Given the description of an element on the screen output the (x, y) to click on. 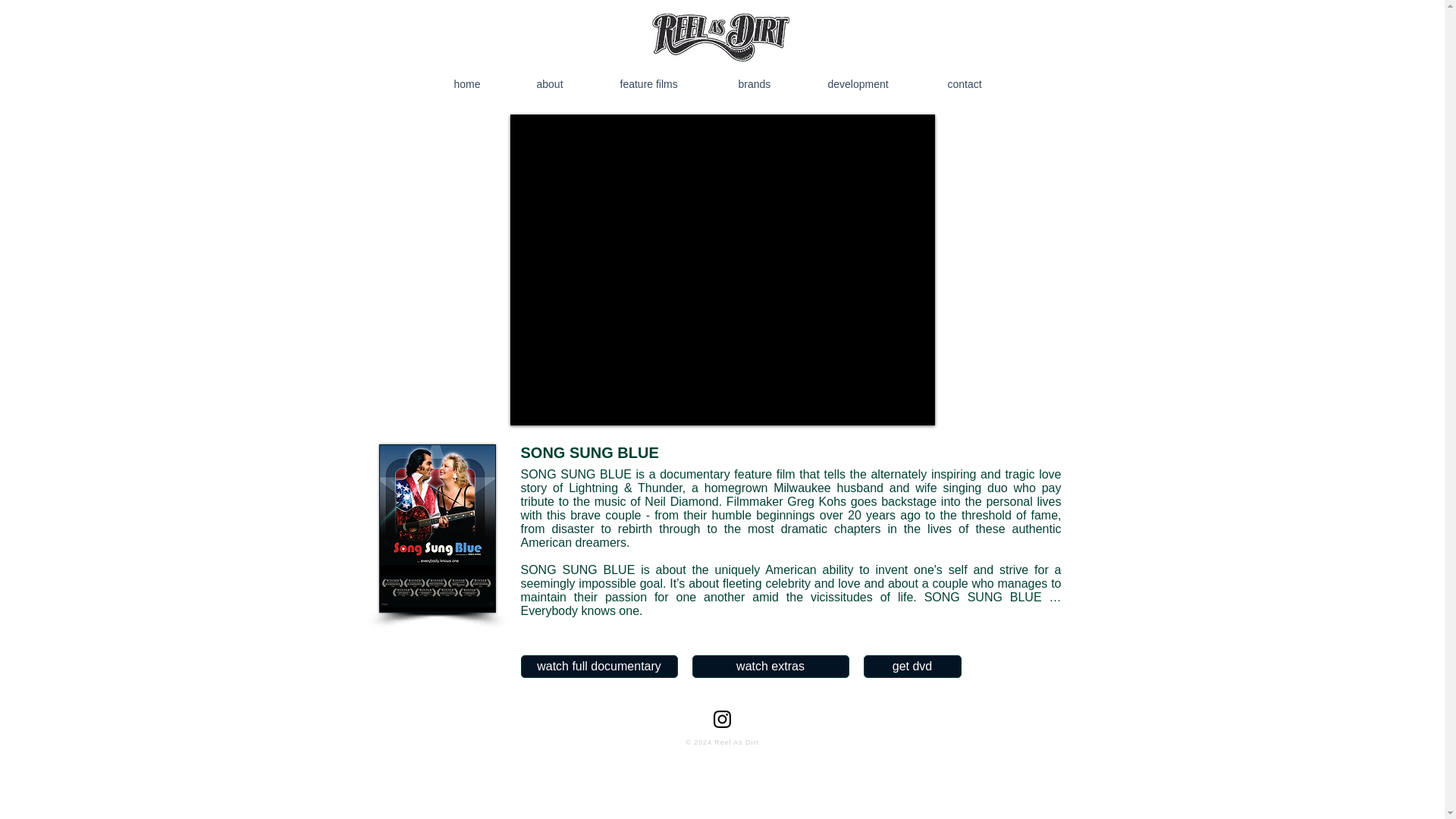
brands (772, 83)
feature films (669, 83)
home (485, 83)
watch full documentary (598, 666)
get dvd (911, 666)
contact (982, 83)
about (567, 83)
development (876, 83)
watch extras (769, 666)
Reel As Dirt logo (719, 37)
